Given the description of an element on the screen output the (x, y) to click on. 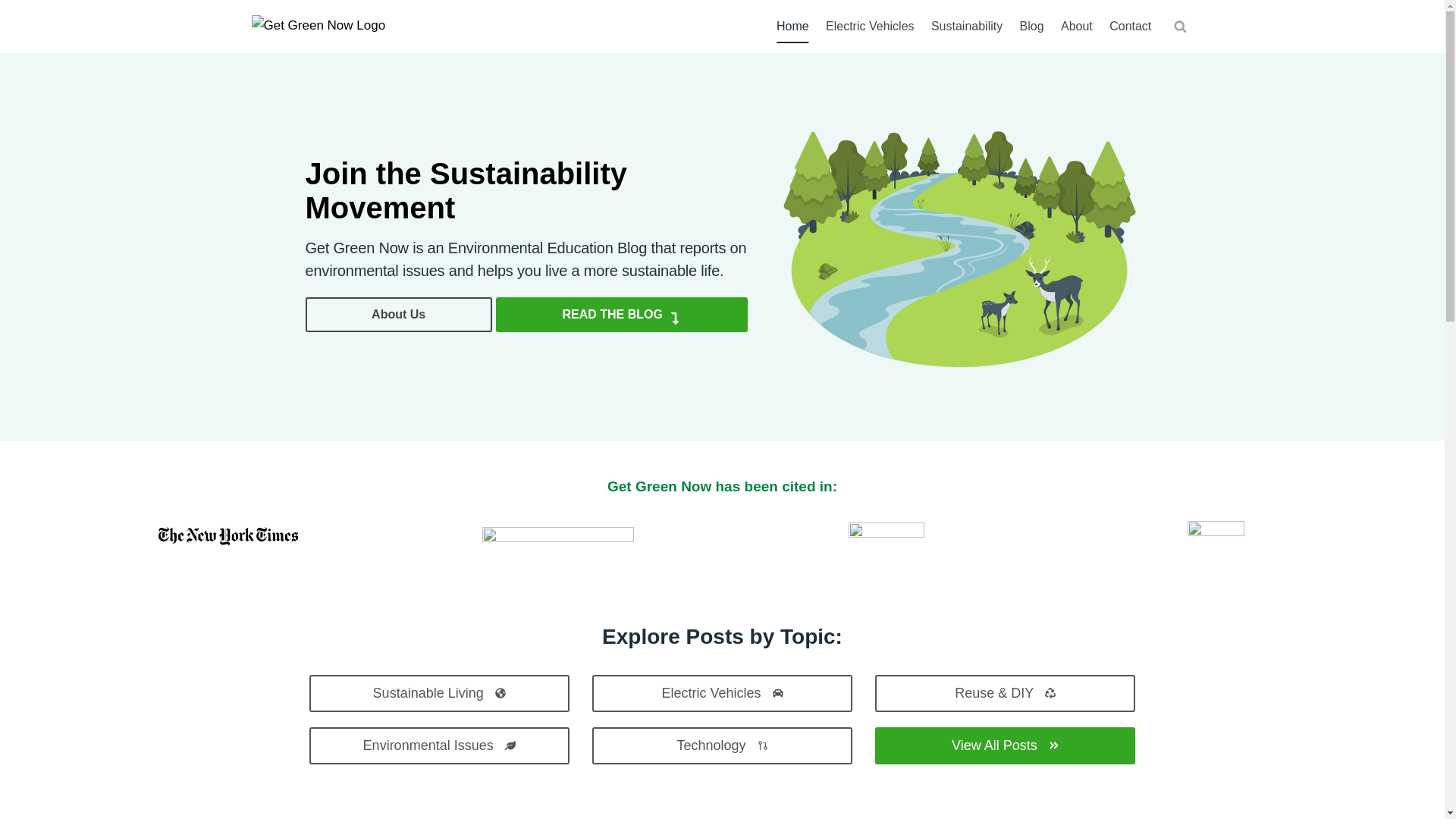
View All Posts (1005, 745)
Technology (721, 745)
Contact (1130, 26)
Electric Vehicles (869, 26)
Environmental Issues (438, 745)
Blog (1030, 26)
Home (792, 26)
Electric Vehicles (721, 692)
About Us (398, 314)
Sustainability (967, 26)
About (1076, 26)
READ THE BLOG (622, 314)
Sustainable Living (438, 692)
